Given the description of an element on the screen output the (x, y) to click on. 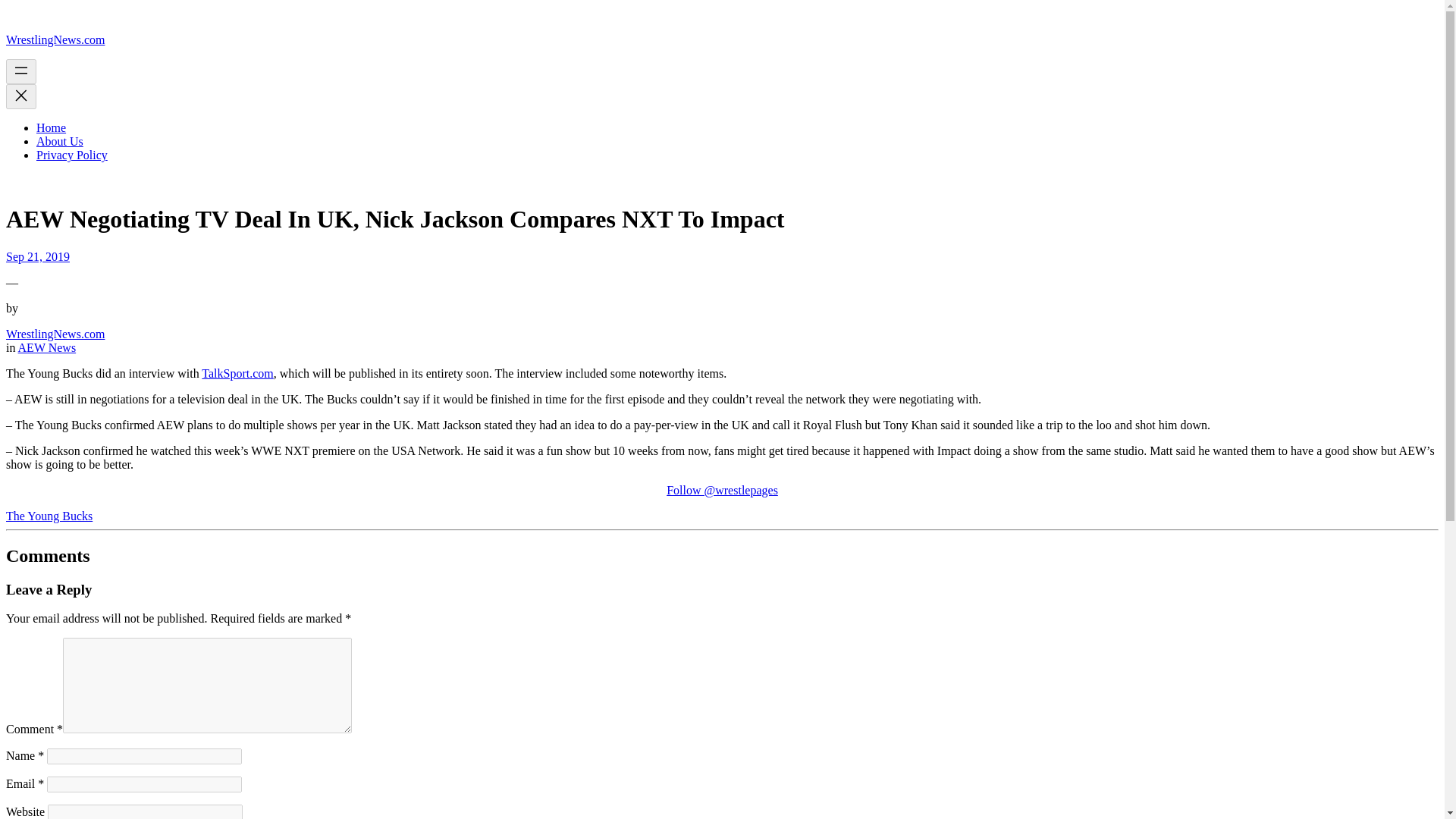
AEW News (47, 347)
WrestlingNews.com (54, 39)
Privacy Policy (71, 154)
TalkSport.com (237, 373)
The Young Bucks (49, 515)
About Us (59, 141)
WrestlingNews.com (54, 333)
Home (50, 127)
Sep 21, 2019 (37, 256)
